Given the description of an element on the screen output the (x, y) to click on. 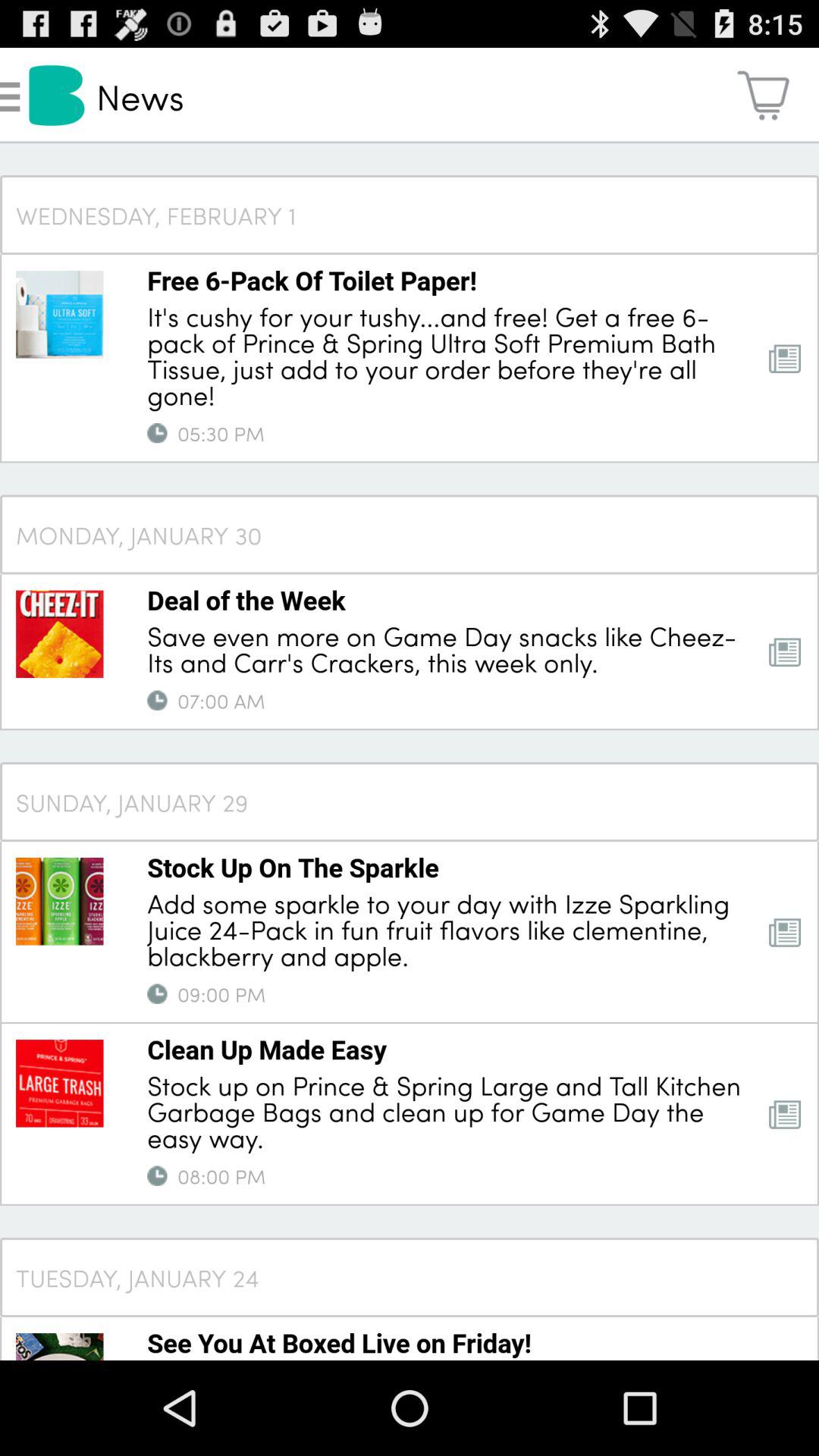
turn off the item next to 05:30 pm icon (157, 433)
